Given the description of an element on the screen output the (x, y) to click on. 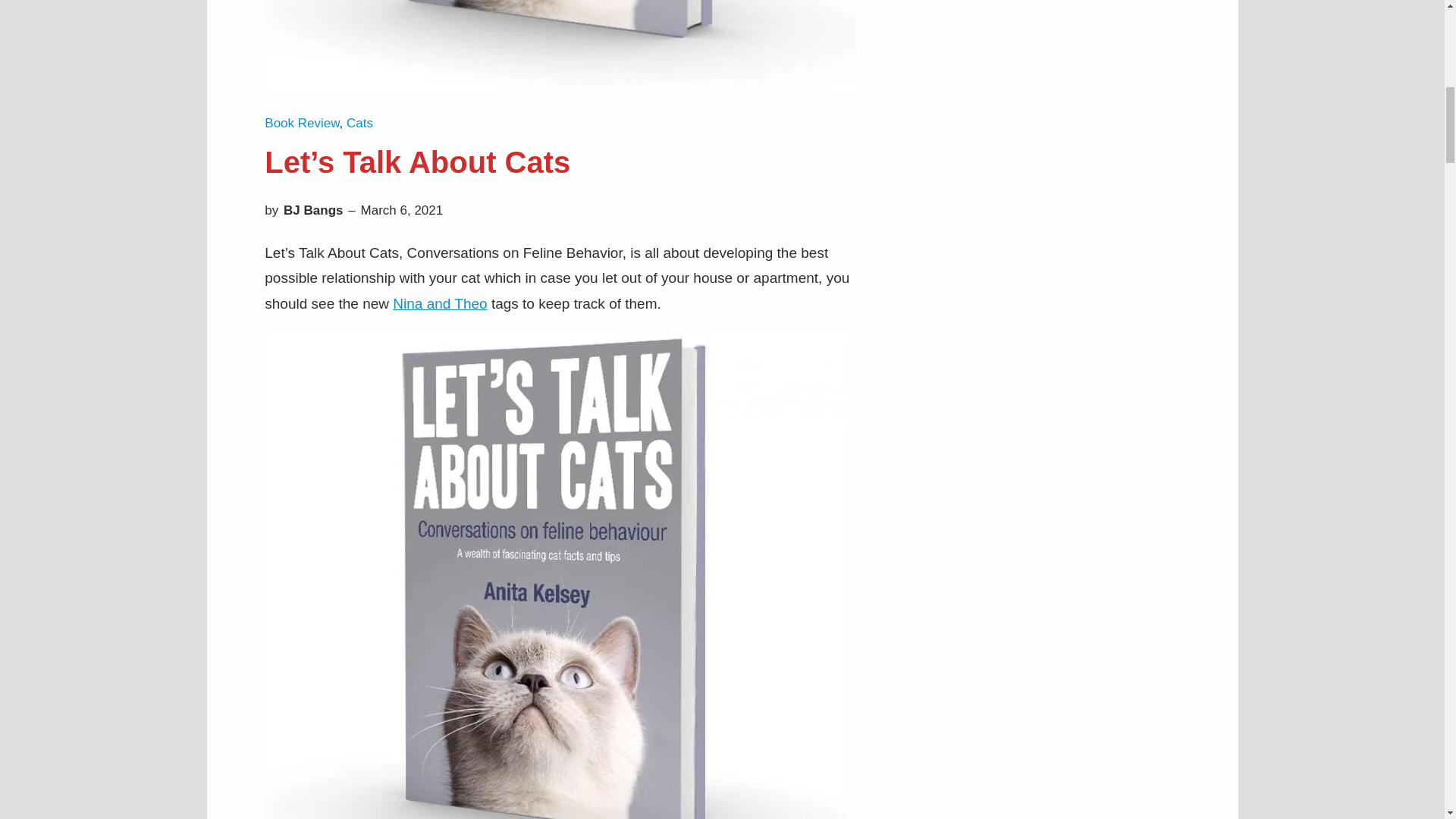
Book Review (301, 123)
March 6, 2021 (402, 210)
Cats (359, 123)
Nina and Theo (439, 303)
